Given the description of an element on the screen output the (x, y) to click on. 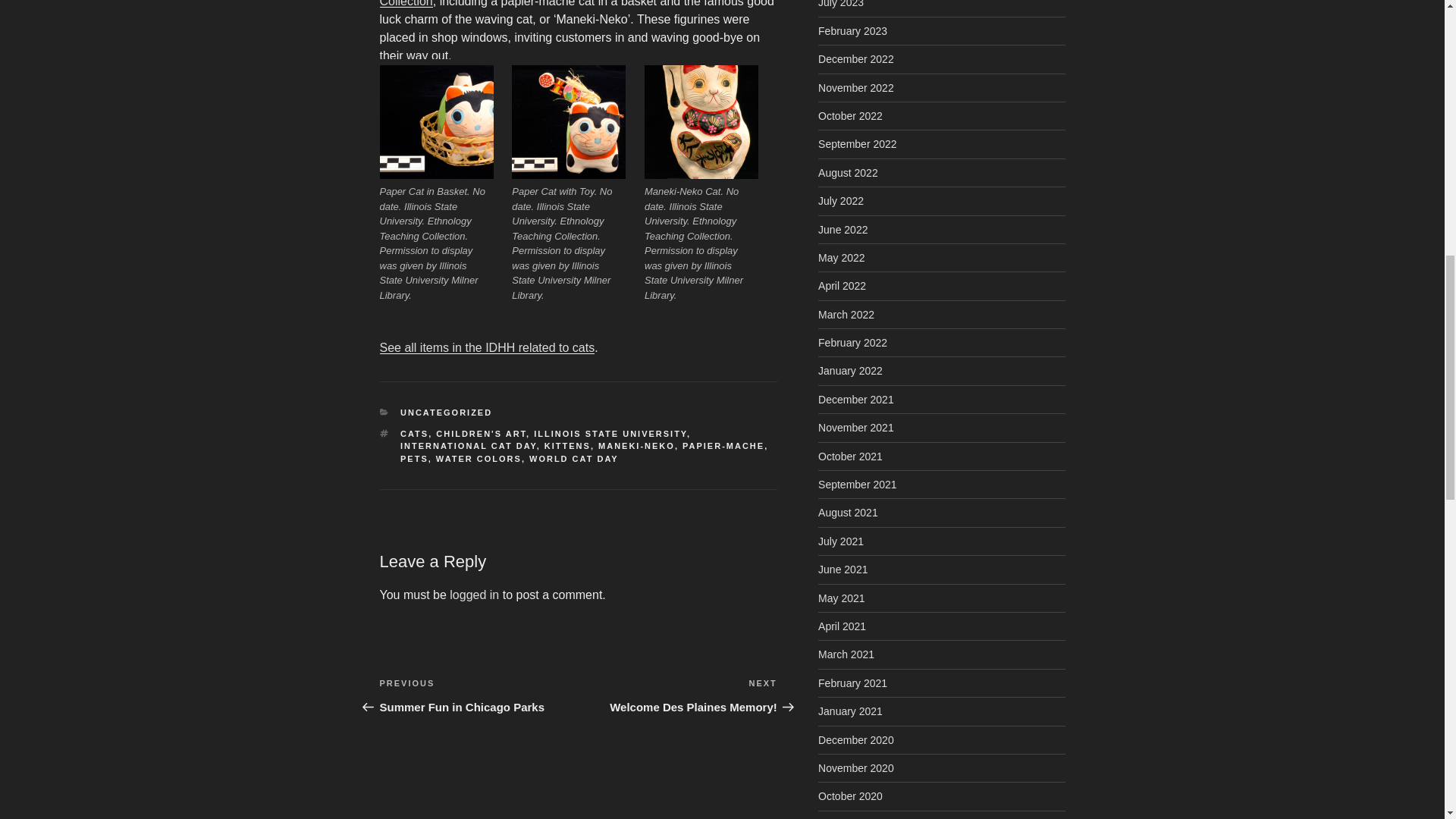
ILLINOIS STATE UNIVERSITY (610, 433)
PETS (414, 458)
WATER COLORS (478, 458)
MANEKI-NEKO (636, 445)
See all items in the IDHH related to cats (486, 347)
WORLD CAT DAY (677, 695)
PAPIER-MACHE (573, 458)
INTERNATIONAL CAT DAY (723, 445)
Ethnology Teaching Collection (478, 695)
CATS (468, 445)
CHILDREN'S ART (564, 3)
KITTENS (414, 433)
UNCATEGORIZED (480, 433)
